Given the description of an element on the screen output the (x, y) to click on. 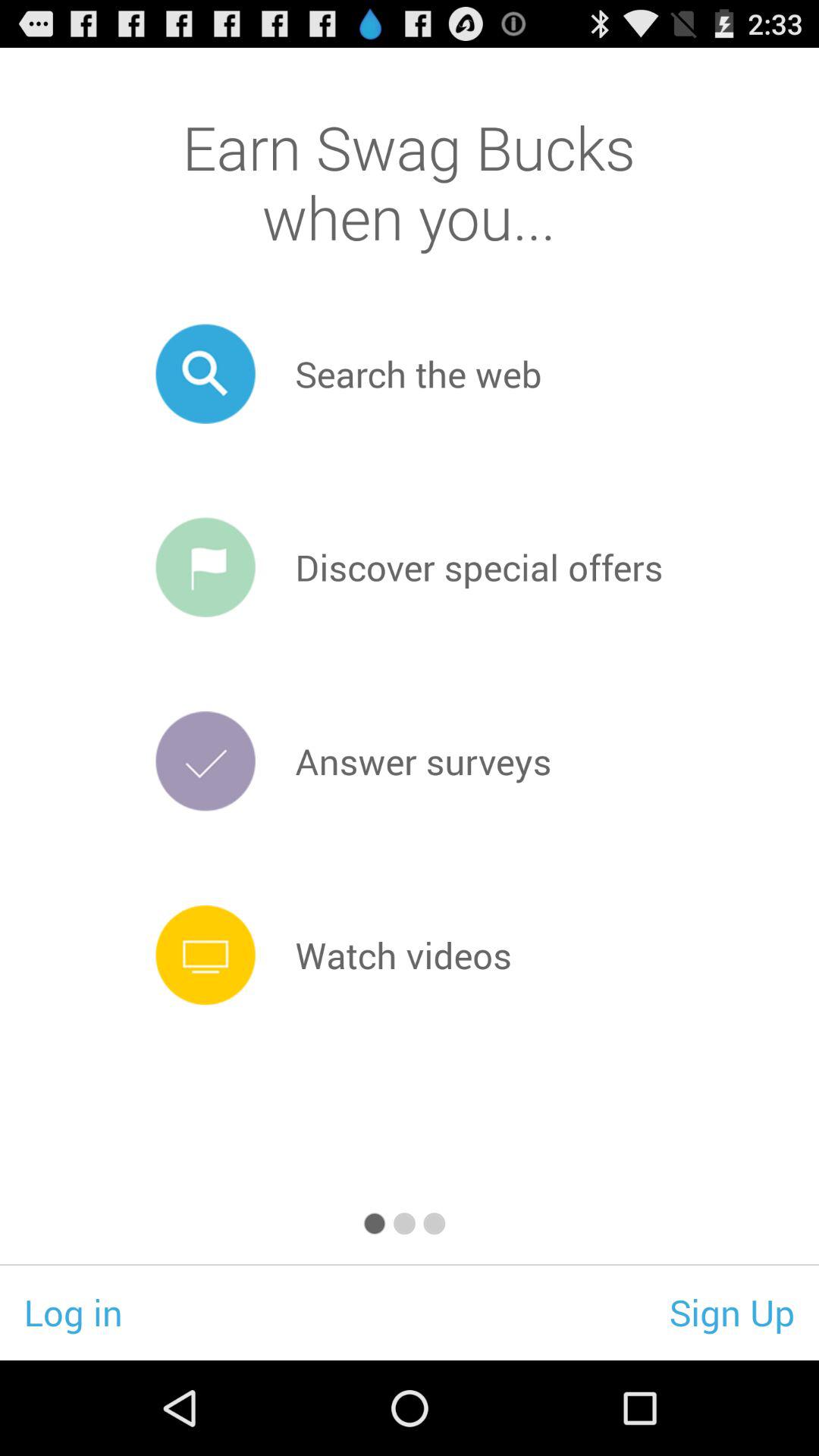
launch the log in icon (73, 1312)
